Given the description of an element on the screen output the (x, y) to click on. 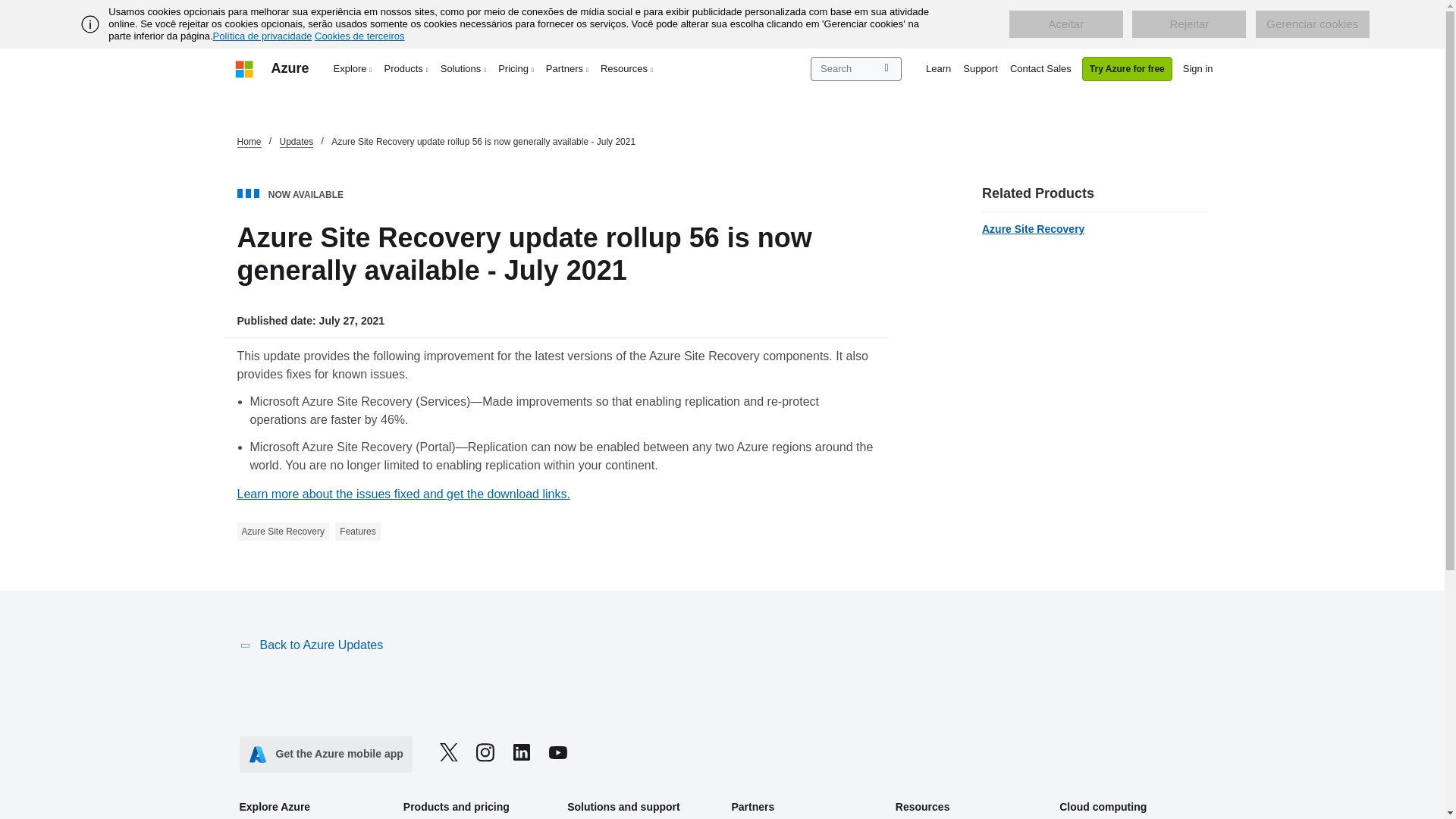
Skip to main content (7, 7)
Explore (352, 68)
Gerenciar cookies (1312, 23)
Products (405, 68)
Azure (289, 68)
Cookies de terceiros (359, 35)
Rejeitar (1189, 23)
Aceitar (1065, 23)
